Given the description of an element on the screen output the (x, y) to click on. 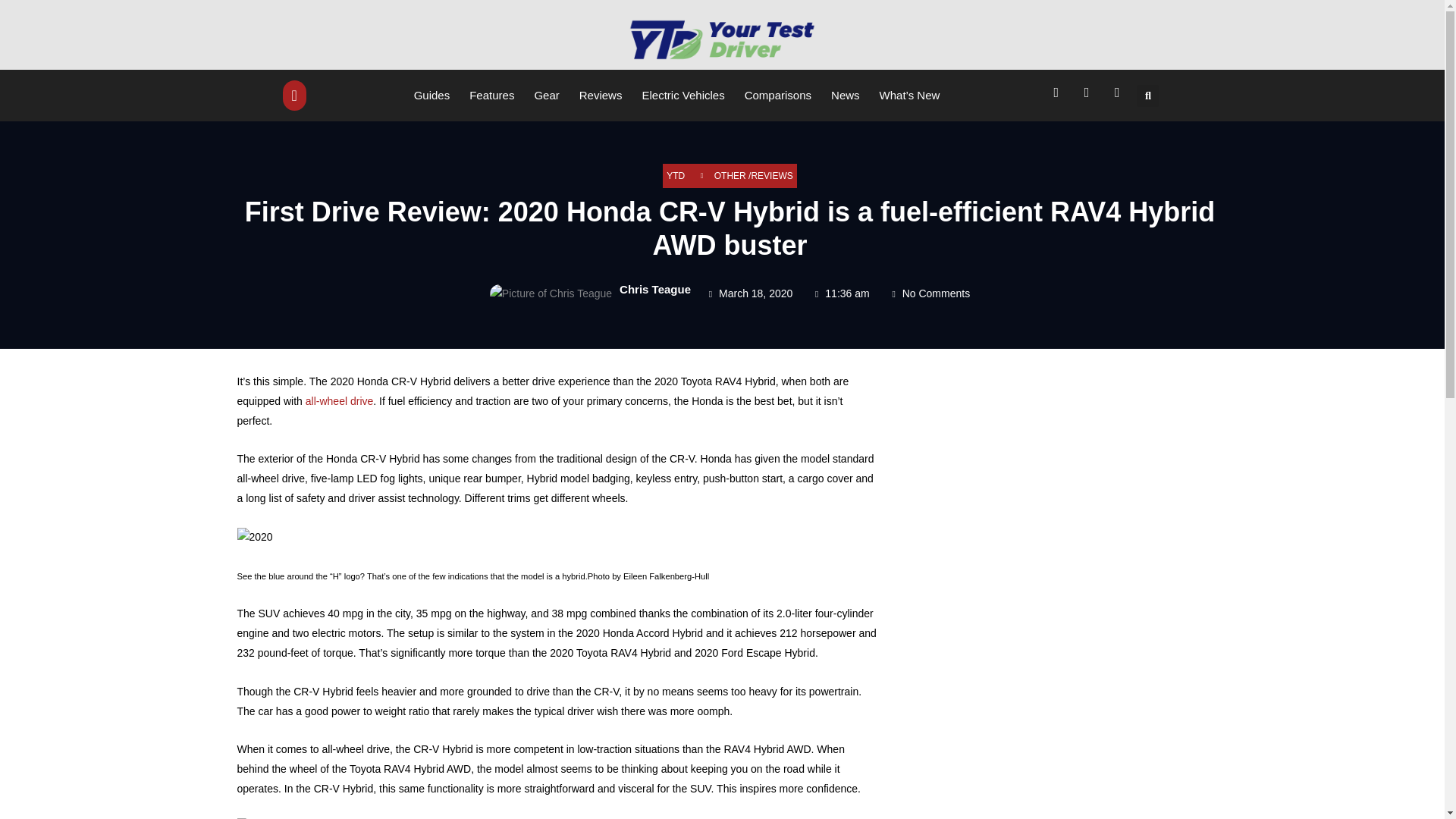
Reviews (601, 95)
Guides (432, 95)
March 18, 2020 (749, 293)
No Comments (929, 293)
all-wheel drive (338, 400)
Electric Vehicles (682, 95)
Features (491, 95)
Facebook (1058, 94)
Comparisons (777, 95)
YTD (675, 175)
